Given the description of an element on the screen output the (x, y) to click on. 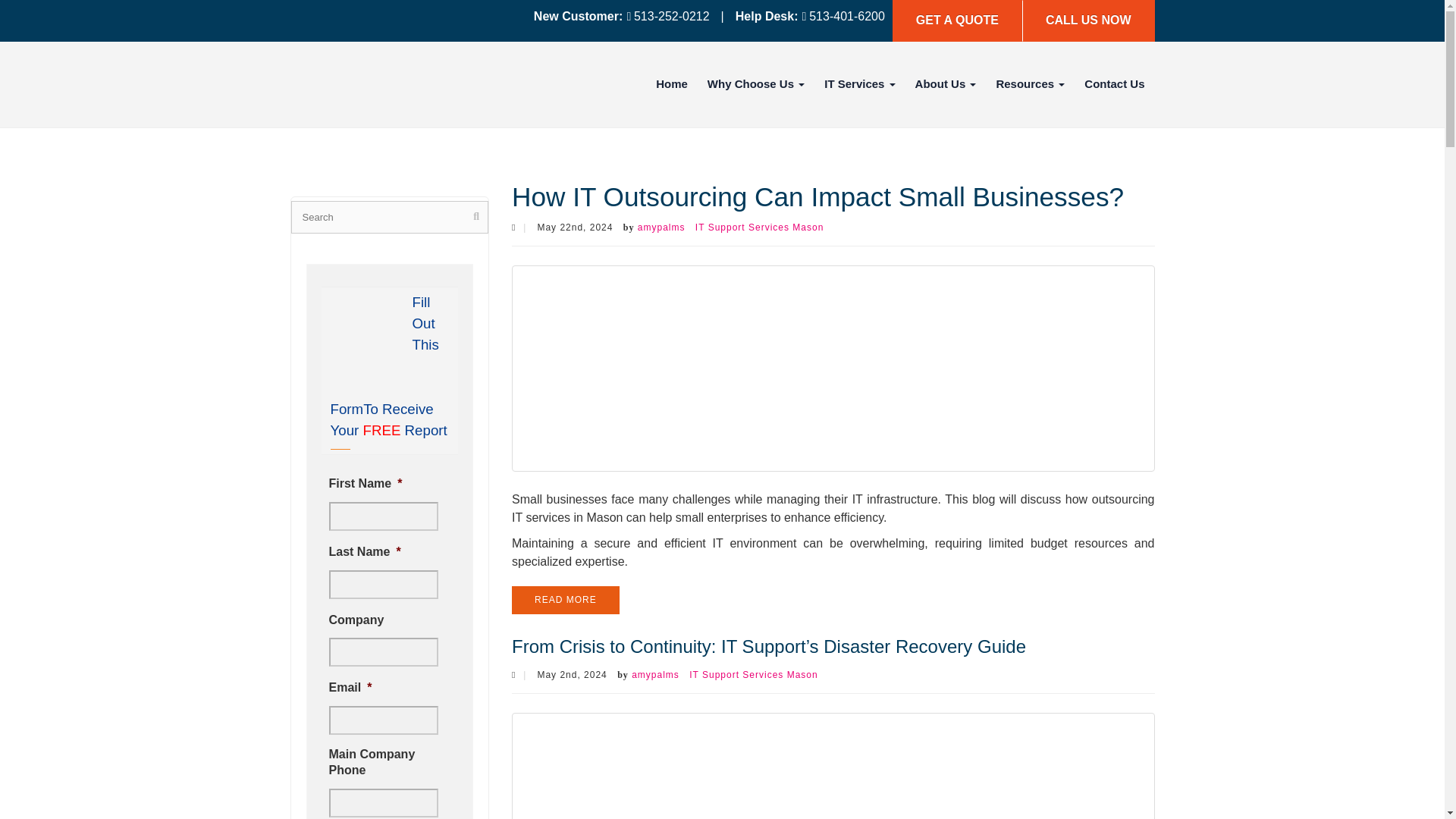
Posts by amypalms (661, 226)
Posts by amypalms (655, 674)
How IT Outsourcing Can Impact Small Businesses? (818, 196)
IT Services (859, 83)
CALL US NOW (1088, 20)
Home (671, 83)
How IT Outsourcing Can Impact Small Businesses? (833, 367)
Why Choose Us (755, 83)
GET A QUOTE (957, 20)
